Given the description of an element on the screen output the (x, y) to click on. 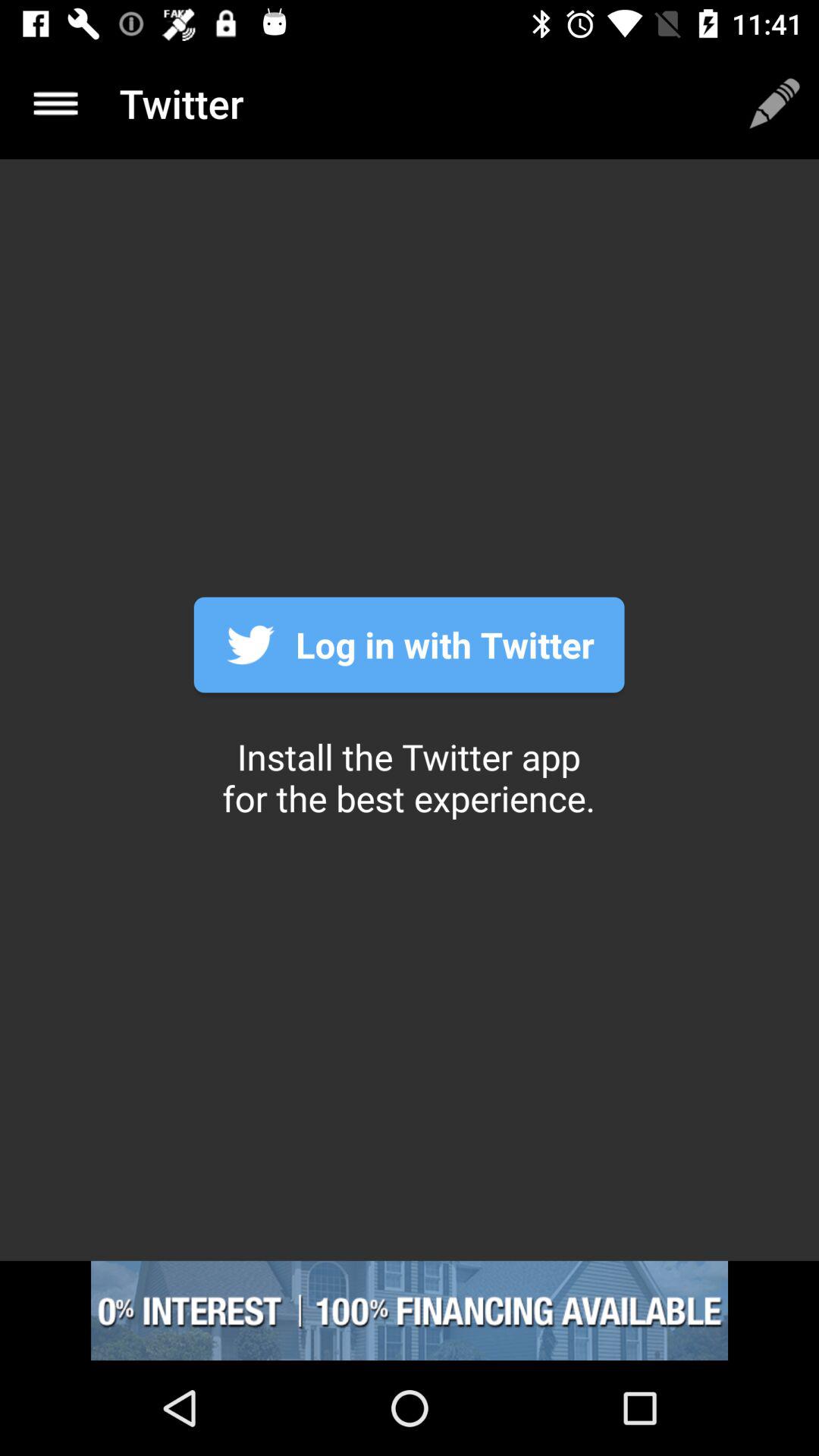
go to menu option (55, 103)
